Given the description of an element on the screen output the (x, y) to click on. 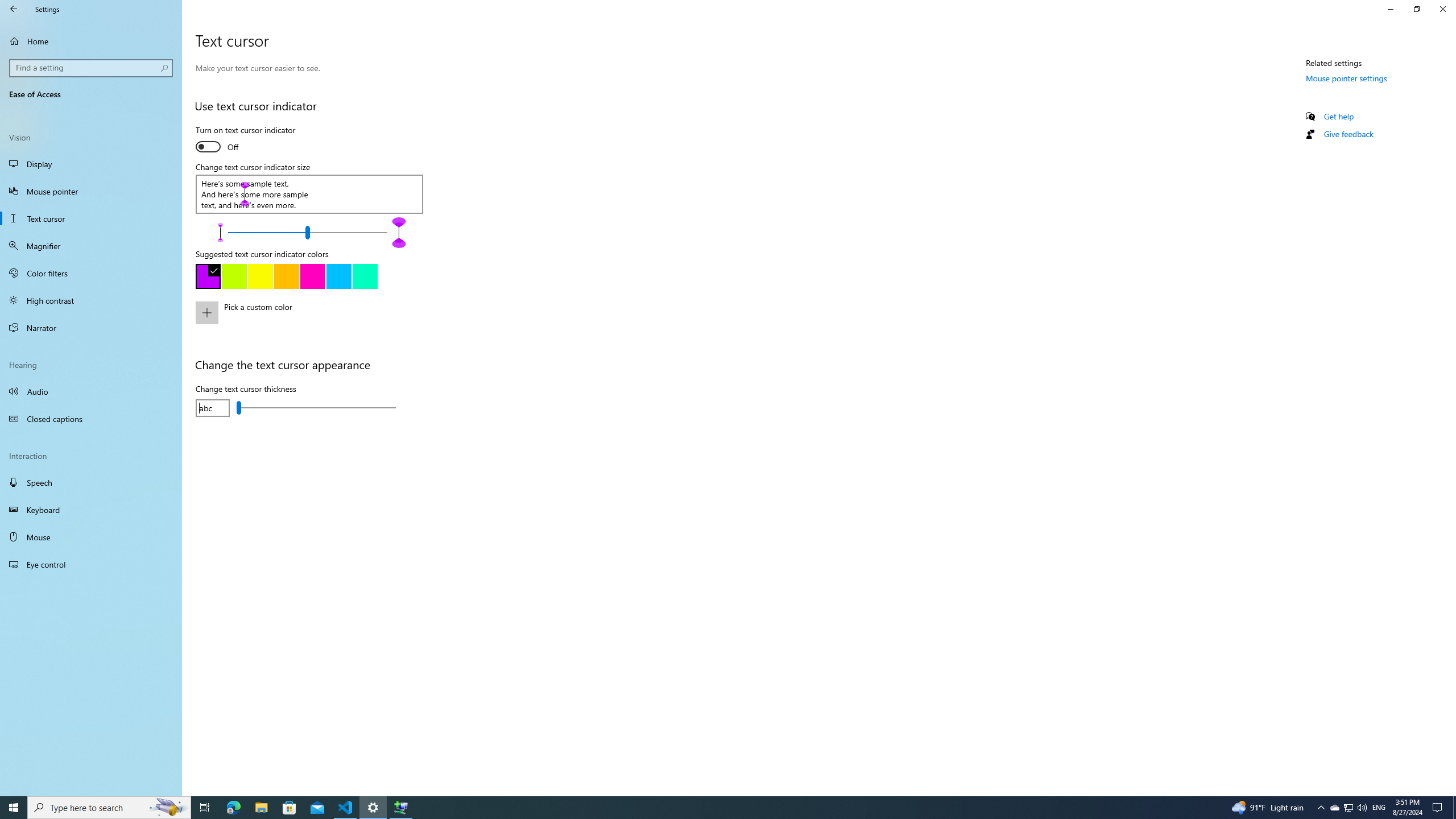
Lime (234, 276)
Magnifier (91, 245)
Green (364, 276)
Gold (285, 276)
Narrator (91, 327)
Display (91, 163)
Purple (208, 276)
